Given the description of an element on the screen output the (x, y) to click on. 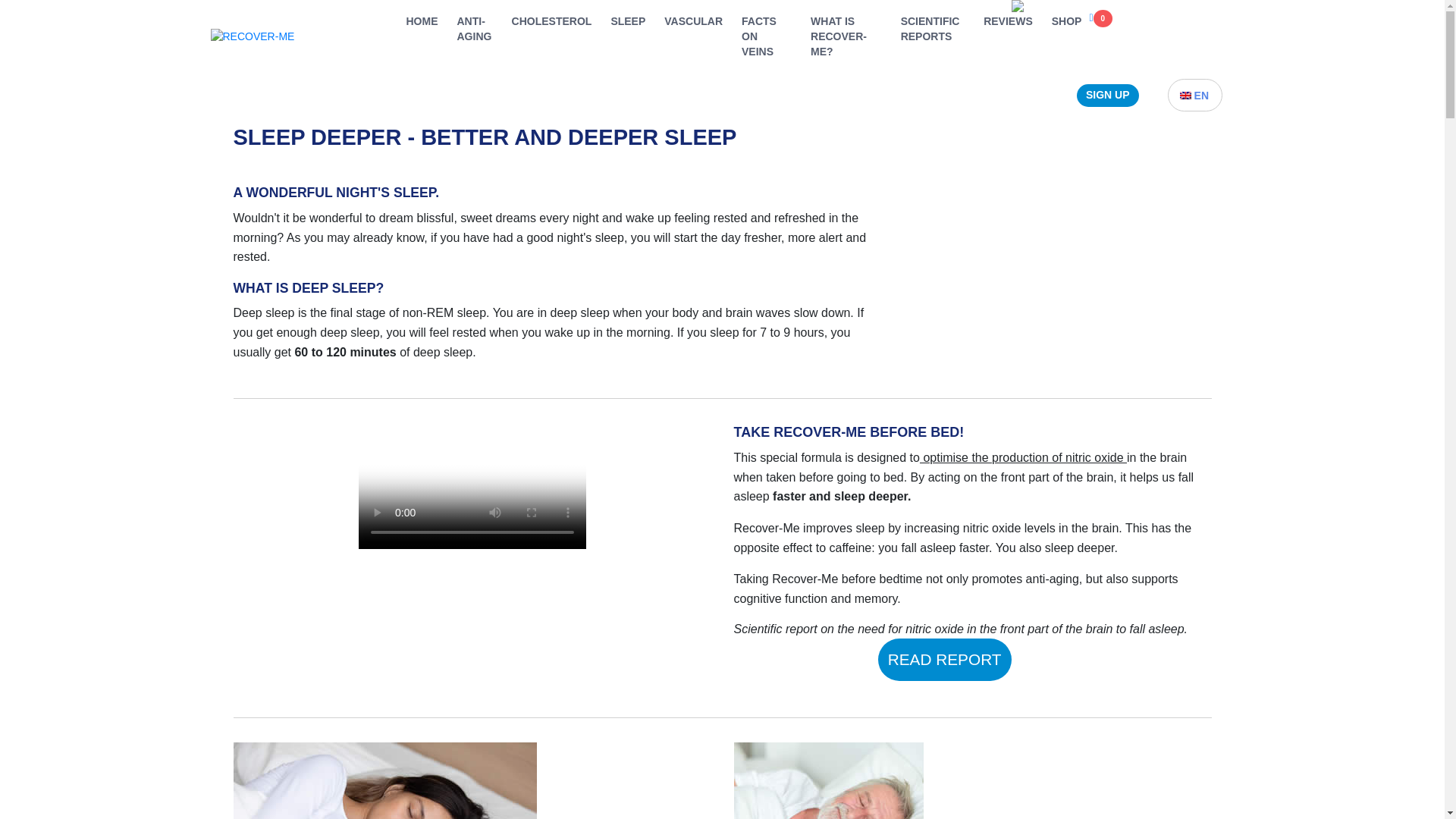
SLEEP (627, 20)
REVIEWS (1008, 20)
SIGN UP (1107, 95)
WHAT IS RECOVER-ME? (846, 35)
SCIENTIFIC REPORTS (933, 28)
VASCULAR (692, 20)
0 (1100, 17)
ANTI-AGING (474, 28)
SHOP (1066, 20)
CHOLESTEROL (552, 20)
FACTS ON VEINS (766, 35)
HOME (422, 20)
